Given the description of an element on the screen output the (x, y) to click on. 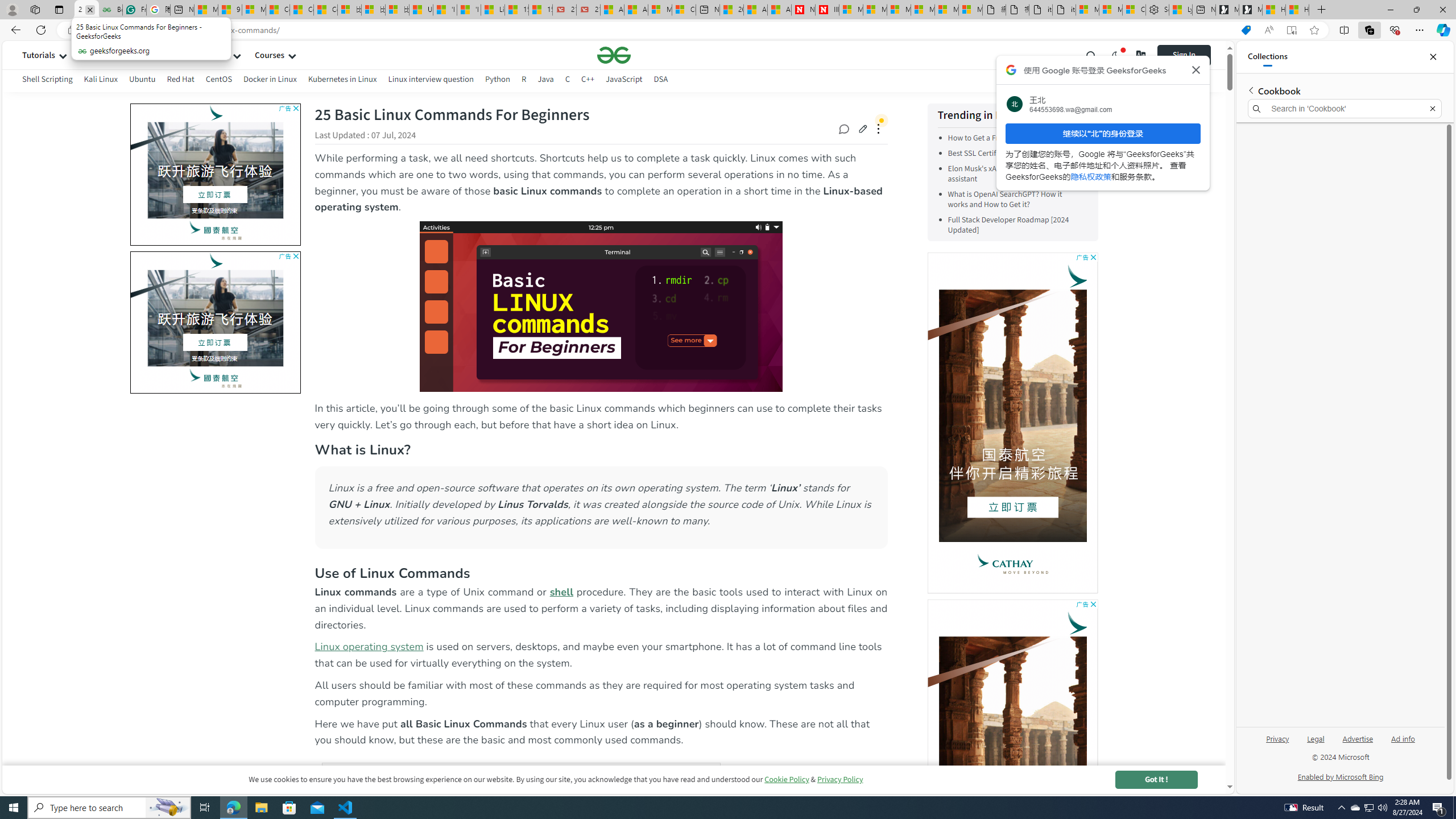
Ad info (1402, 742)
Data Science (144, 55)
Shell Scripting (47, 79)
Microsoft Start Gaming (1250, 9)
AutomationID: vapourBg (213, 322)
Best SSL Certificates Provider in India (1009, 153)
Class: Bz112c Bz112c-r9oPif (1195, 69)
Newsweek - News, Analysis, Politics, Business, Technology (802, 9)
Exit search (1432, 108)
Consumer Health Data Privacy Policy (1134, 9)
